Given the description of an element on the screen output the (x, y) to click on. 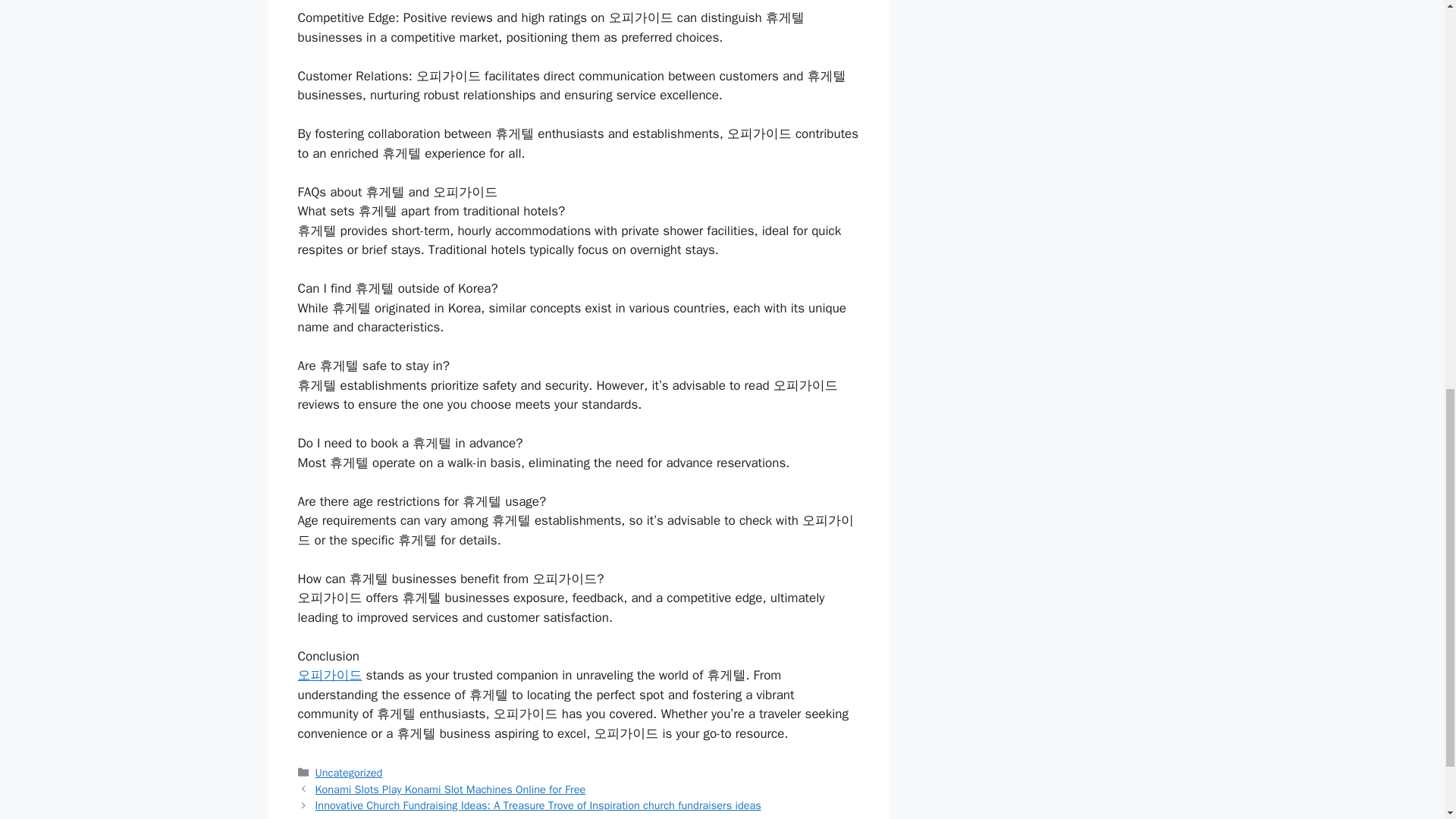
Uncategorized (348, 772)
Konami Slots Play Konami Slot Machines Online for Free (450, 789)
